Given the description of an element on the screen output the (x, y) to click on. 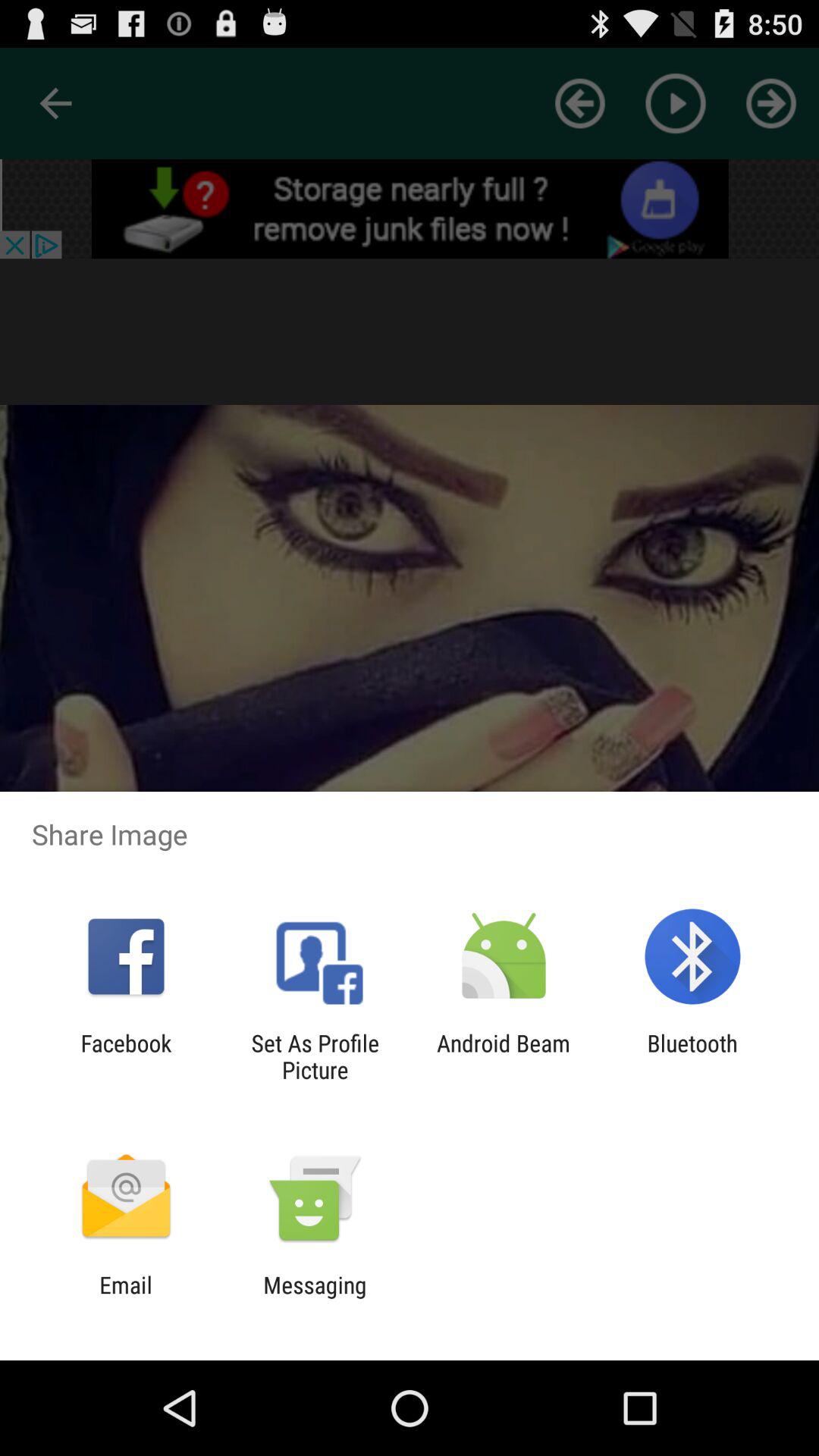
click the app to the left of the set as profile icon (125, 1056)
